Given the description of an element on the screen output the (x, y) to click on. 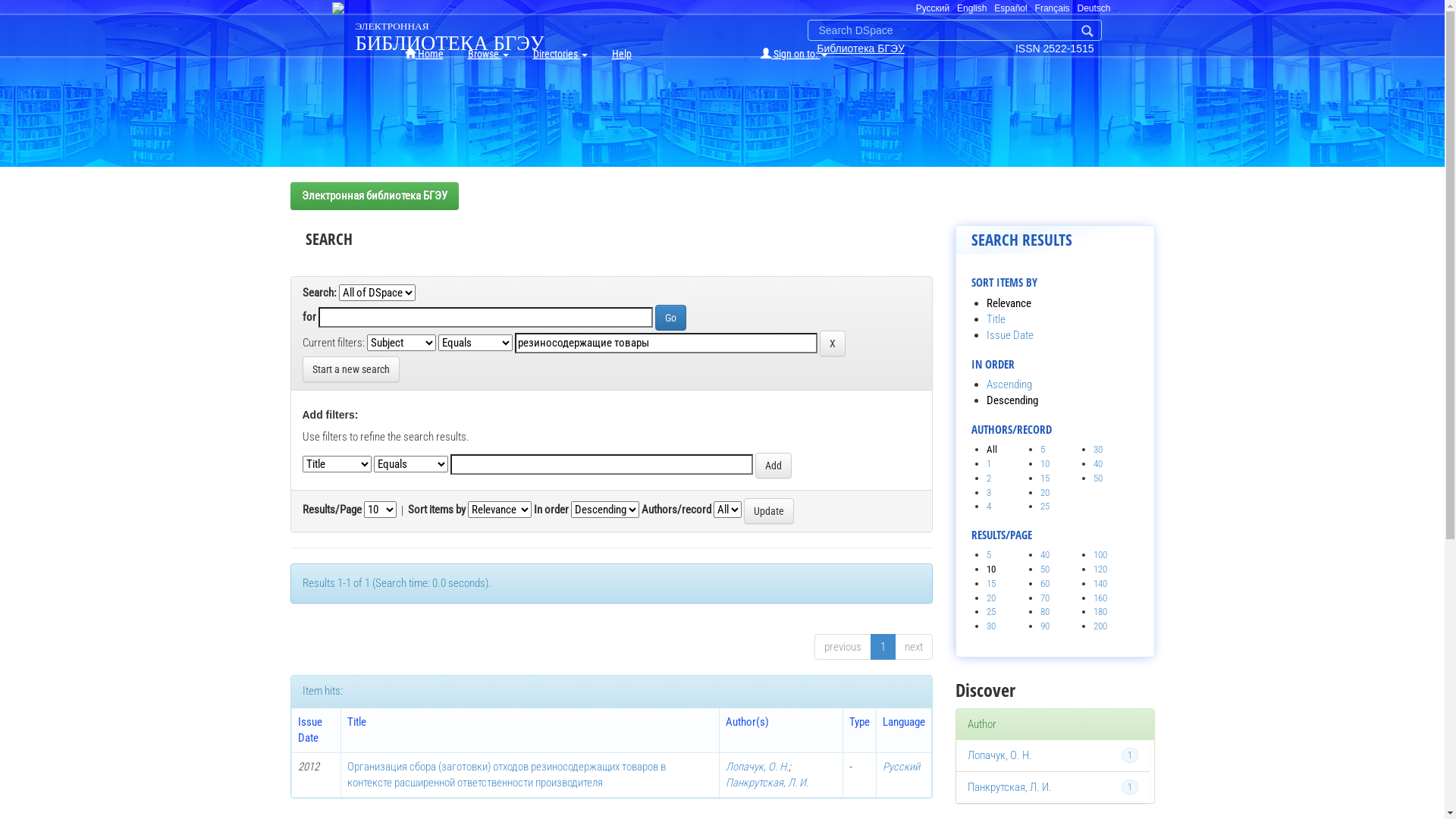
3 Element type: text (988, 492)
30 Element type: text (1097, 449)
Directories Element type: text (559, 53)
30 Element type: text (990, 625)
2 Element type: text (988, 477)
25 Element type: text (1044, 505)
15 Element type: text (990, 583)
180 Element type: text (1100, 611)
15 Element type: text (1044, 477)
200 Element type: text (1100, 625)
5 Element type: text (1042, 449)
Title Element type: text (995, 319)
English Element type: text (971, 8)
Browse Element type: text (487, 53)
Update Element type: text (768, 511)
Deutsch Element type: text (1093, 8)
50 Element type: text (1097, 477)
50 Element type: text (1044, 568)
10 Element type: text (1044, 463)
Issue Date Element type: text (1009, 335)
4 Element type: text (988, 505)
Help Element type: text (621, 53)
Go Element type: text (670, 317)
80 Element type: text (1044, 611)
40 Element type: text (1044, 554)
X Element type: text (831, 343)
Add Element type: text (773, 465)
25 Element type: text (990, 611)
Start a new search Element type: text (349, 369)
20 Element type: text (1044, 492)
90 Element type: text (1044, 625)
20 Element type: text (990, 597)
120 Element type: text (1100, 568)
160 Element type: text (1100, 597)
70 Element type: text (1044, 597)
1 Element type: text (988, 463)
5 Element type: text (988, 554)
Home Element type: text (423, 53)
140 Element type: text (1100, 583)
100 Element type: text (1100, 554)
Sign on to: Element type: text (793, 53)
60 Element type: text (1044, 583)
Ascending Element type: text (1009, 384)
40 Element type: text (1097, 463)
